Given the description of an element on the screen output the (x, y) to click on. 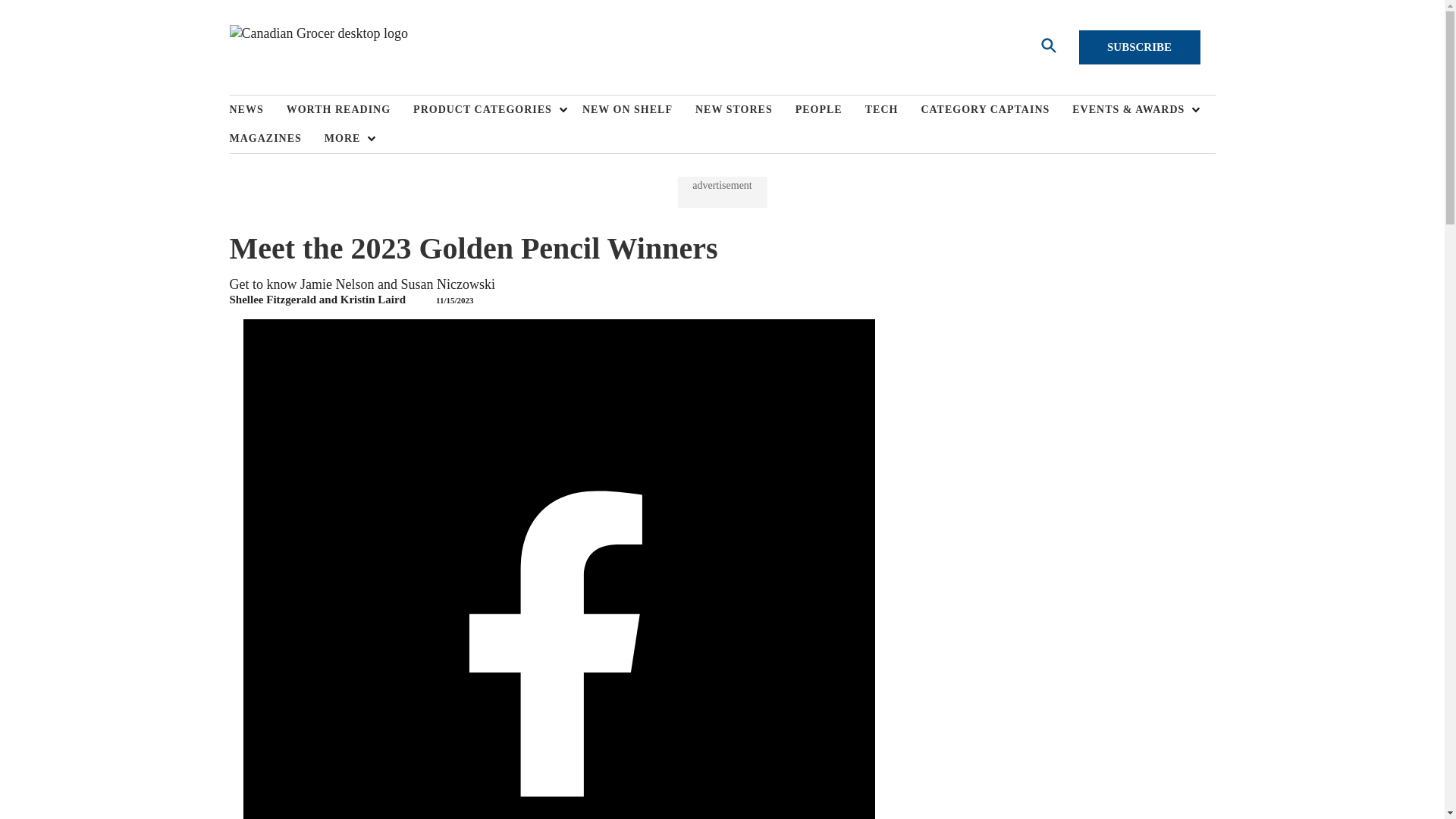
MAGAZINES (275, 138)
CATEGORY CAPTAINS (995, 109)
WORTH READING (349, 109)
PEOPLE (829, 109)
NEW STORES (744, 109)
MORE (346, 138)
PRODUCT CATEGORIES (486, 109)
TECH (892, 109)
NEWS (256, 109)
NEW ON SHELF (638, 109)
SUBSCRIBE (1138, 47)
